Given the description of an element on the screen output the (x, y) to click on. 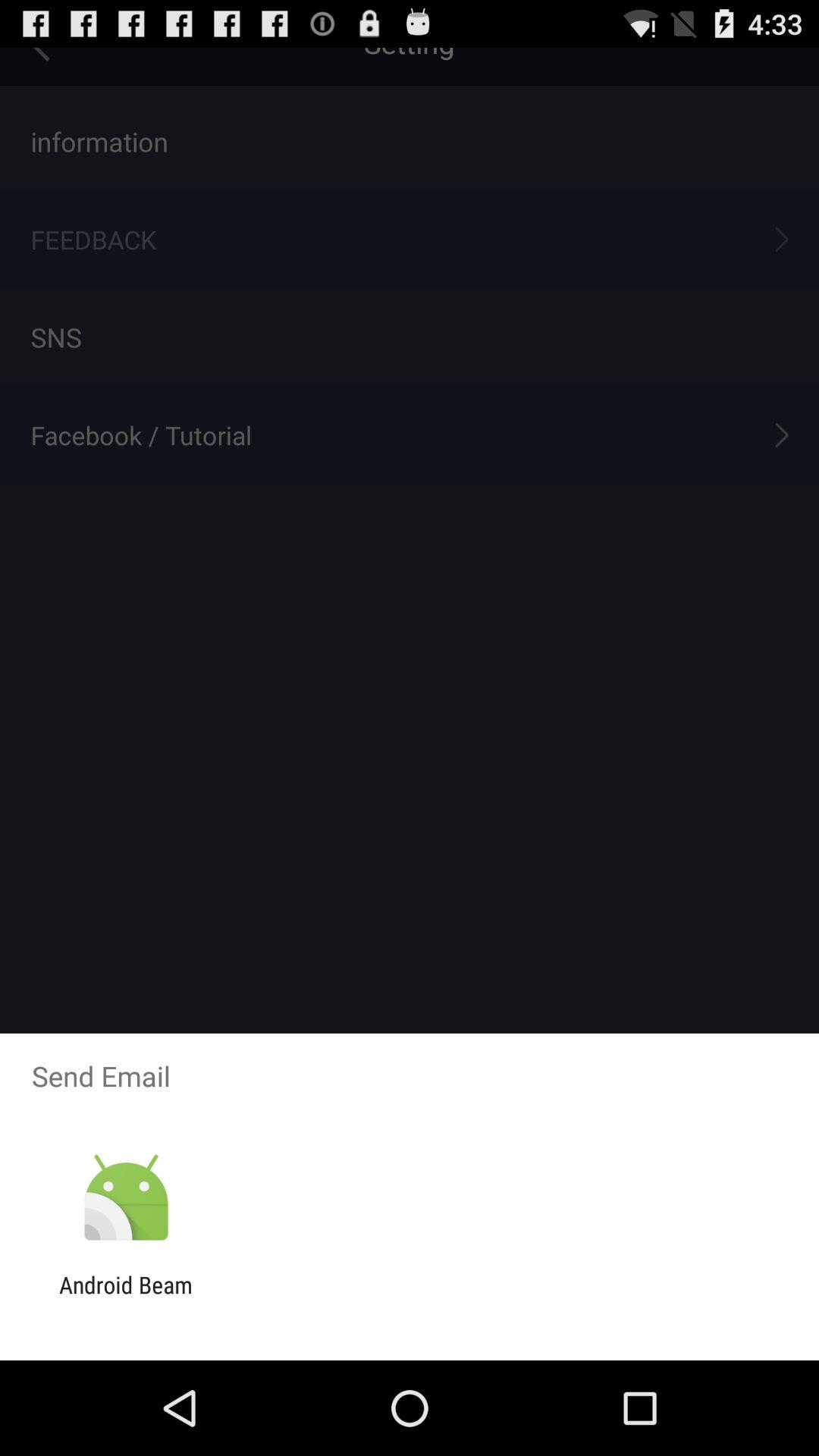
click android beam app (125, 1298)
